Given the description of an element on the screen output the (x, y) to click on. 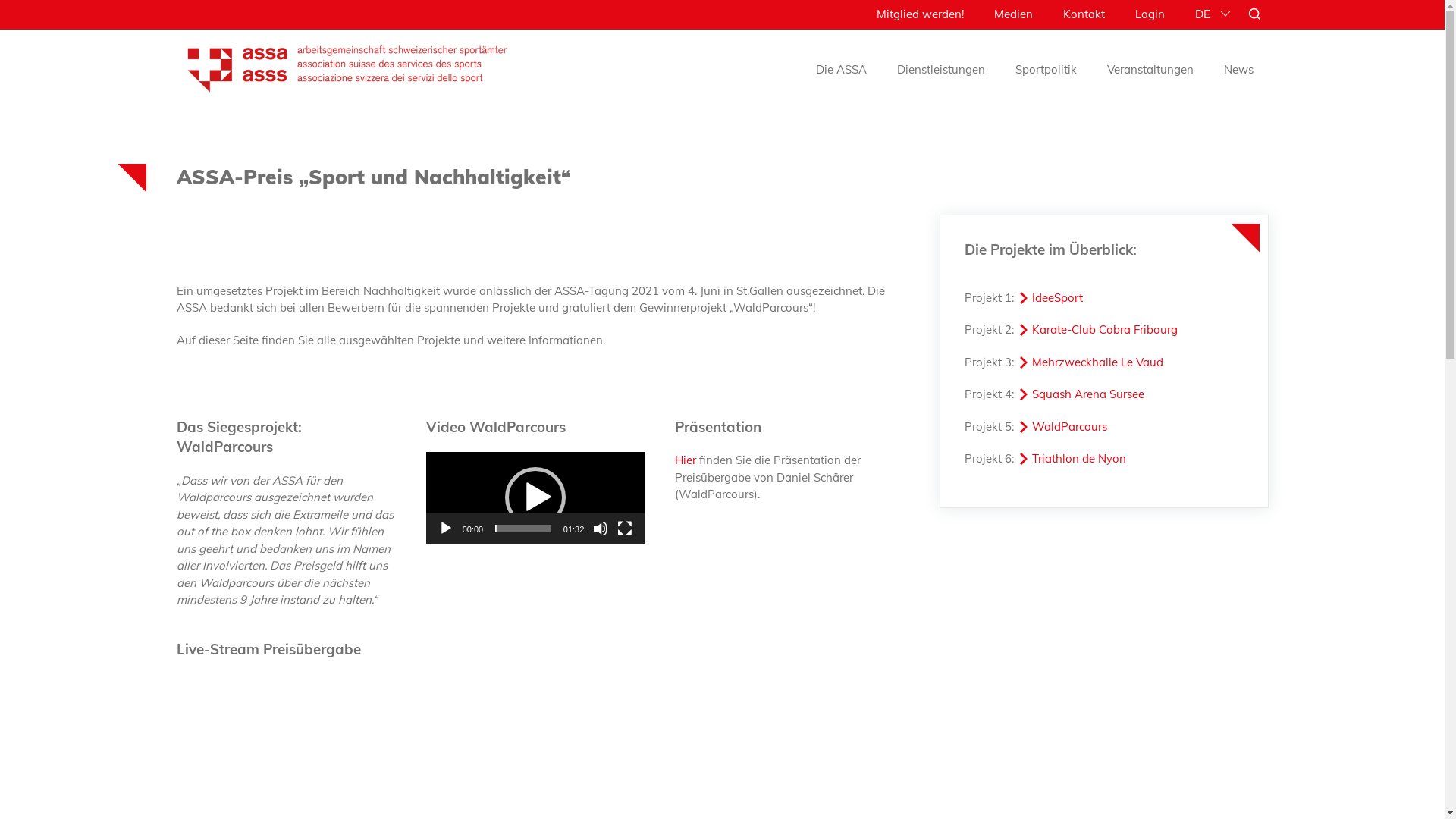
Stumm Element type: hover (600, 528)
News Element type: text (1238, 69)
Sportpolitik Element type: text (1045, 69)
Dienstleistungen Element type: text (940, 69)
DE Element type: text (1202, 14)
Vollbild Element type: hover (624, 528)
Kontakt Element type: text (1084, 14)
Medien Element type: text (1012, 14)
Hier Element type: text (685, 459)
Abspielen Element type: hover (445, 528)
Veranstaltungen Element type: text (1150, 69)
IdeeSport Element type: text (1049, 297)
Mitglied werden! Element type: text (920, 14)
WaldParcours Element type: text (1061, 426)
Login Element type: text (1149, 14)
Triathlon de Nyon Element type: text (1071, 458)
Squash Arena Sursee Element type: text (1080, 393)
Suche Element type: text (47, 24)
Die ASSA Element type: text (840, 69)
Karate-Club Cobra Fribourg Element type: text (1096, 329)
Mehrzweckhalle Le Vaud Element type: text (1089, 361)
